Given the description of an element on the screen output the (x, y) to click on. 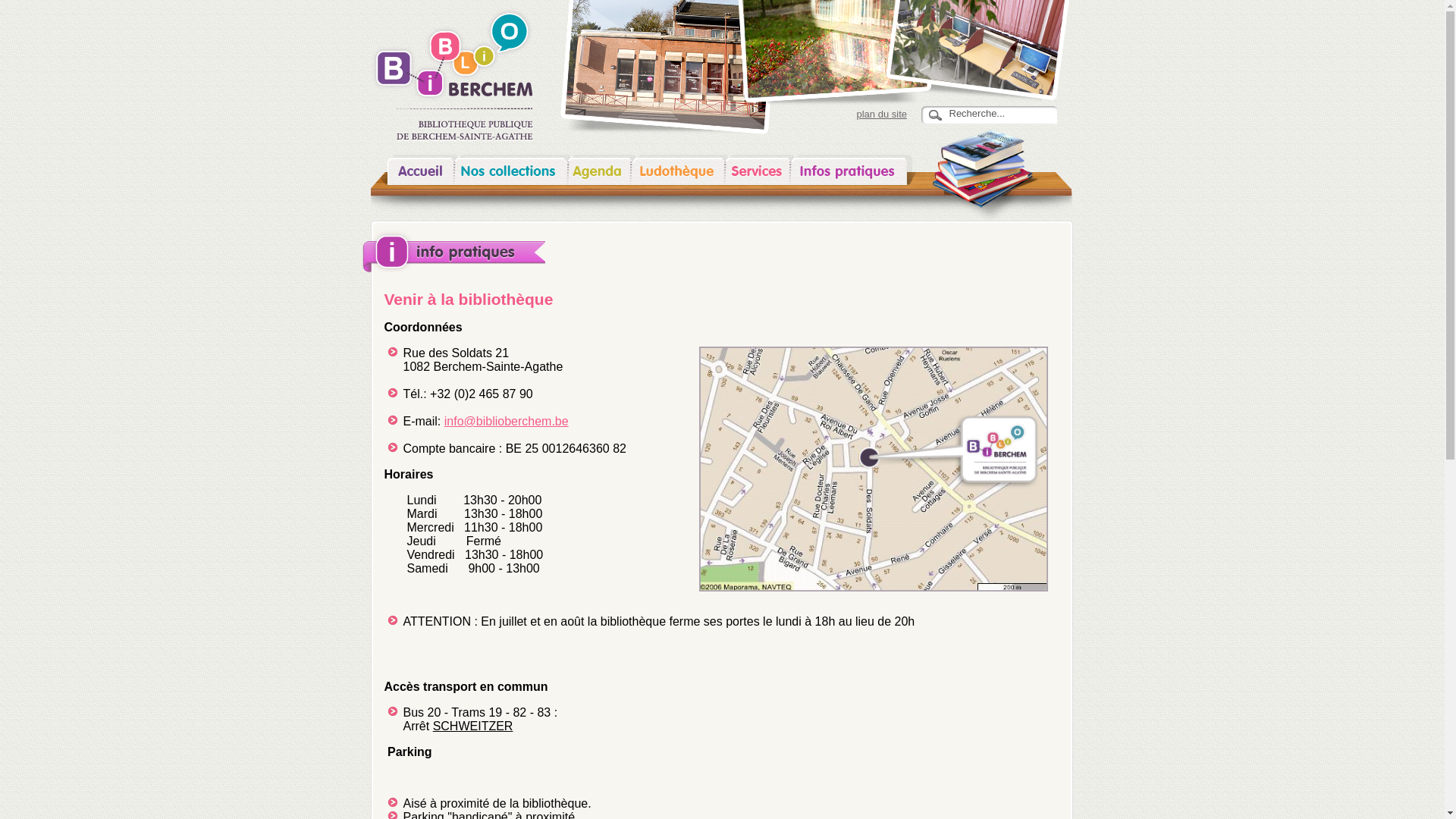
plan du site Element type: text (881, 113)
info@biblioberchem.be Element type: text (506, 420)
